Given the description of an element on the screen output the (x, y) to click on. 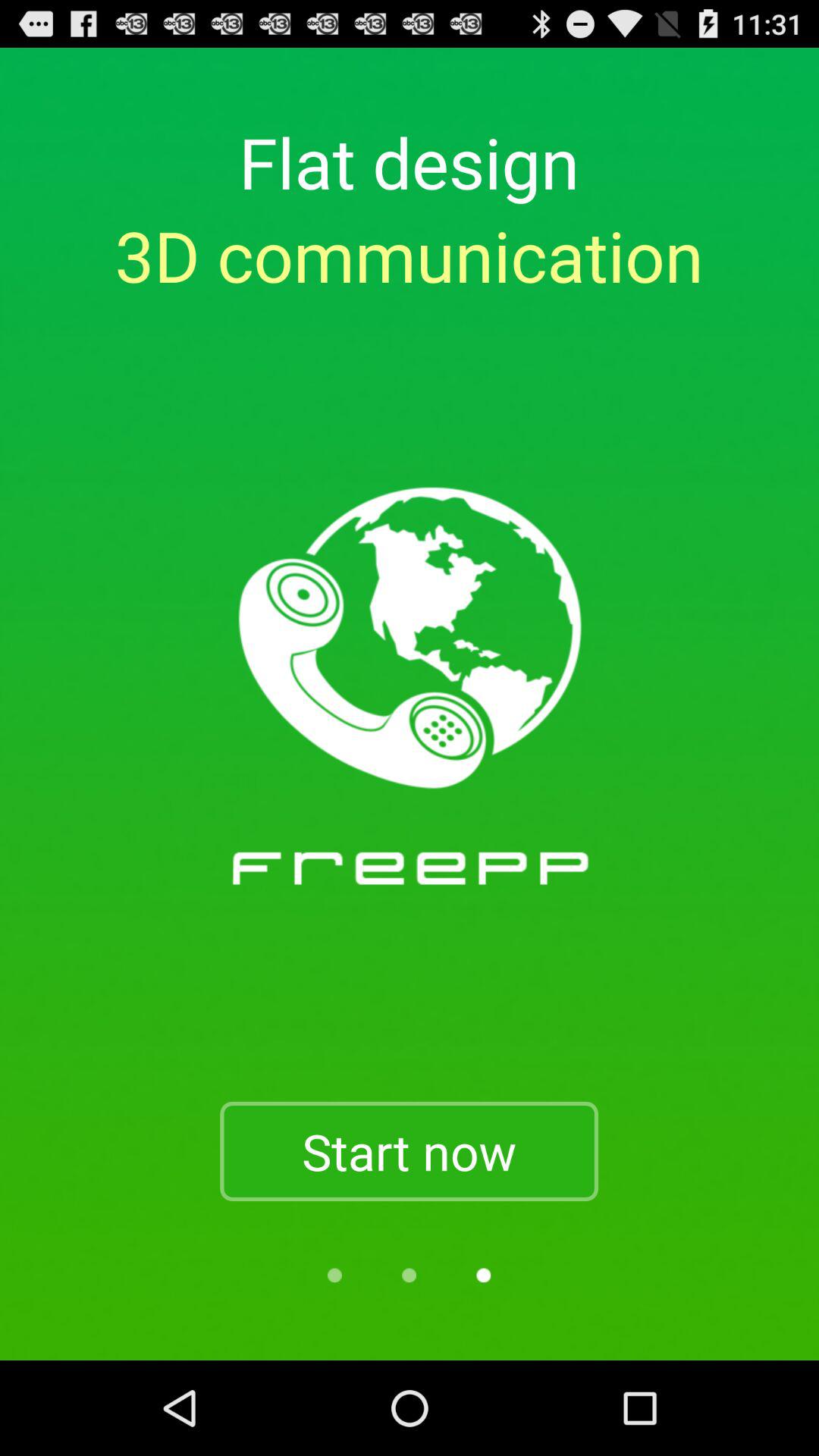
page two (408, 1275)
